Given the description of an element on the screen output the (x, y) to click on. 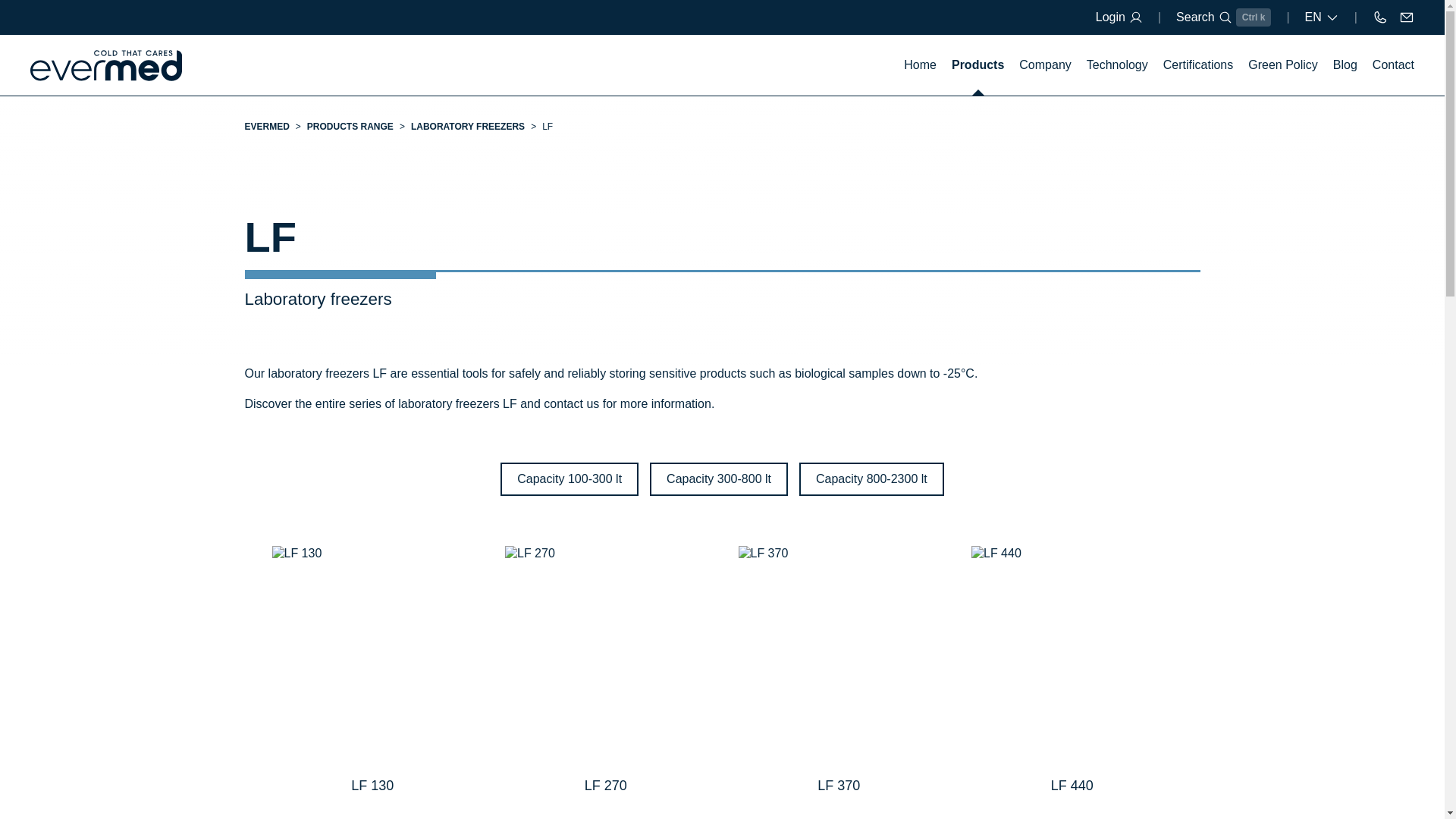
LABORATORY FREEZERS (467, 126)
Certifications (1198, 65)
PRODUCTS RANGE (350, 126)
Technology (1117, 65)
EVERMED (266, 126)
Green Policy (1282, 65)
